Given the description of an element on the screen output the (x, y) to click on. 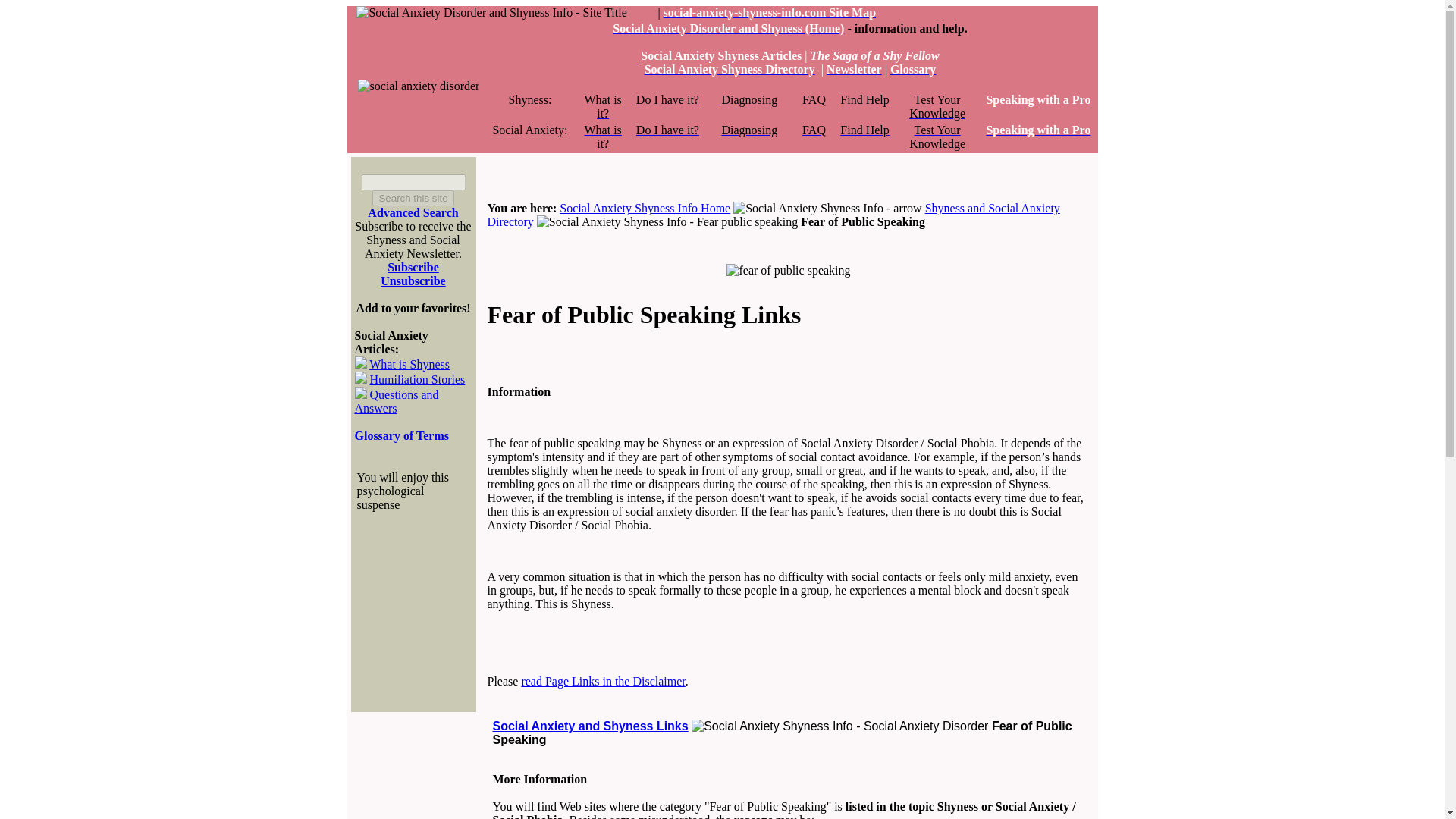
Diagnosing Shyness (748, 99)
newsletter (854, 69)
Unsubscribe (412, 280)
Overcoming Shyness - How to? (864, 99)
What is Shyness (603, 106)
Test Your Knowledge (936, 136)
Glossary (912, 69)
Shyness and Social Anxiety Directory (772, 214)
Questions and Answers (397, 401)
Speaking with a Pro (1037, 99)
